Given the description of an element on the screen output the (x, y) to click on. 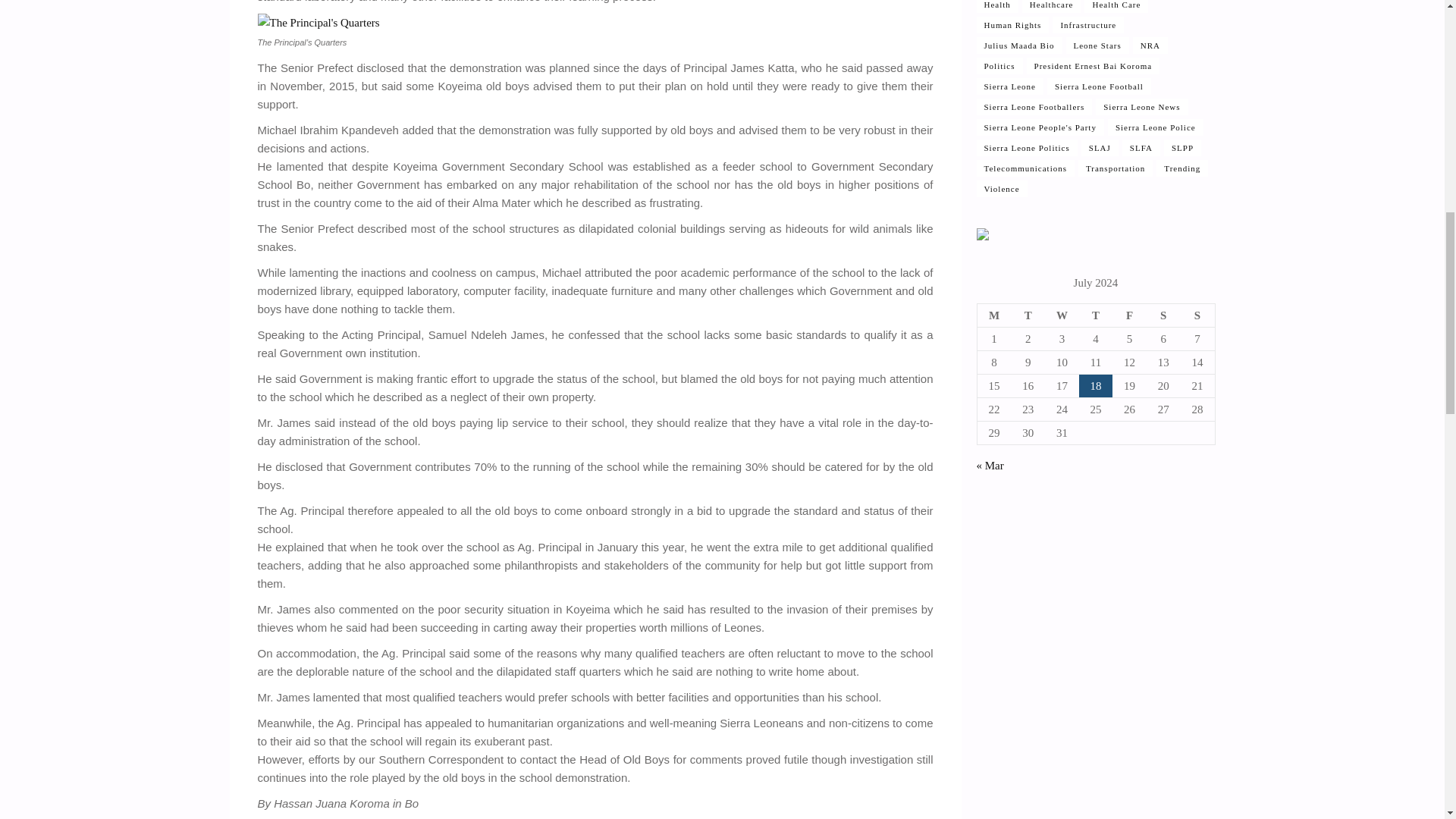
Tuesday (1028, 315)
Saturday (1163, 315)
Monday (993, 315)
Internet Programming Solutions - A SaloneTech Company (982, 236)
Friday (1129, 315)
Wednesday (1061, 315)
Sunday (1196, 315)
Thursday (1095, 315)
